Given the description of an element on the screen output the (x, y) to click on. 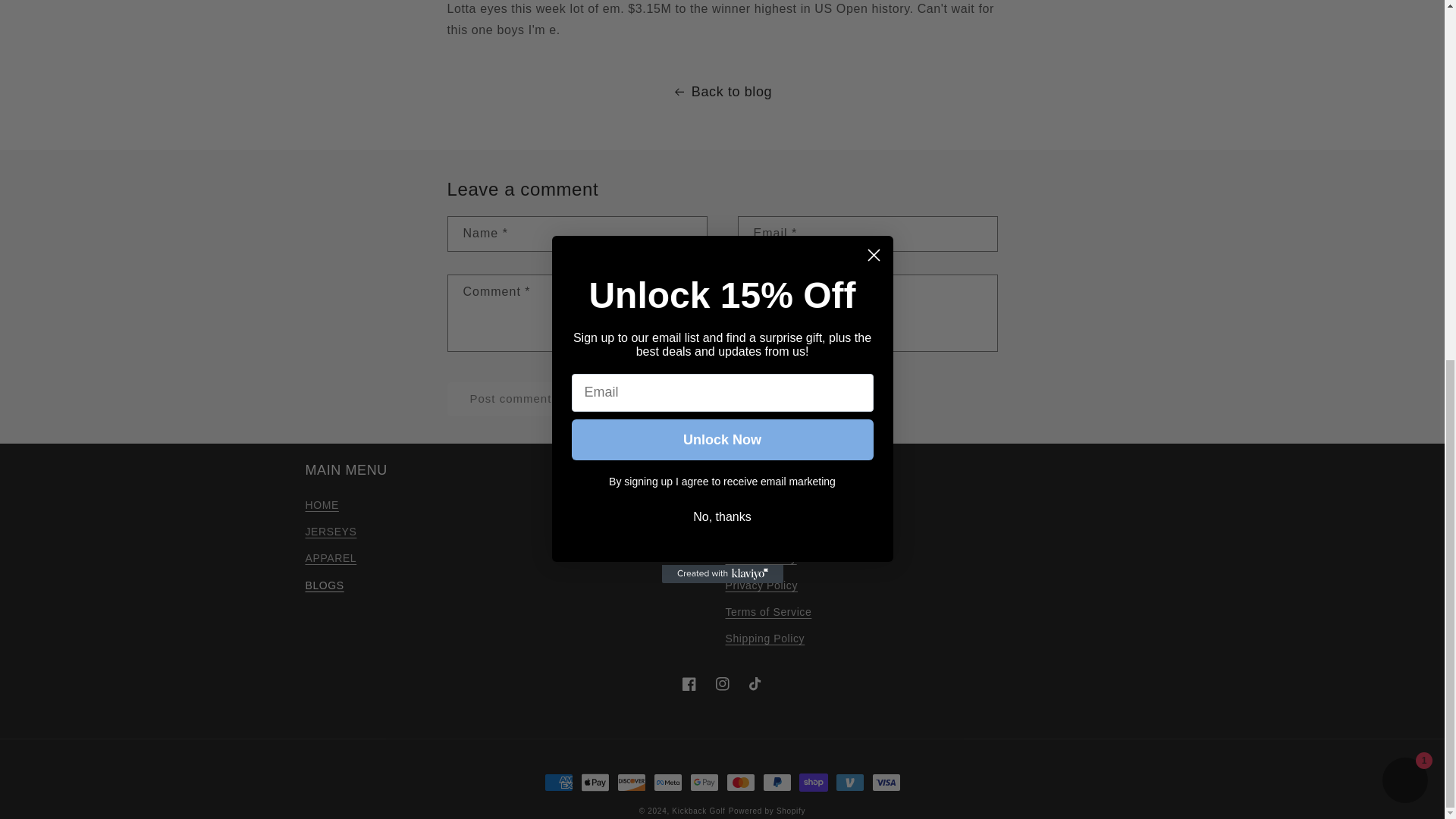
JERSEYS (330, 531)
Privacy Policy (761, 585)
About Us (748, 507)
BLOGS (323, 585)
Contact Us (753, 531)
APPAREL (330, 558)
Refund Policy (760, 558)
Shopify online store chat (1404, 143)
HOME (320, 507)
Post comment (510, 399)
Post comment (510, 399)
